Given the description of an element on the screen output the (x, y) to click on. 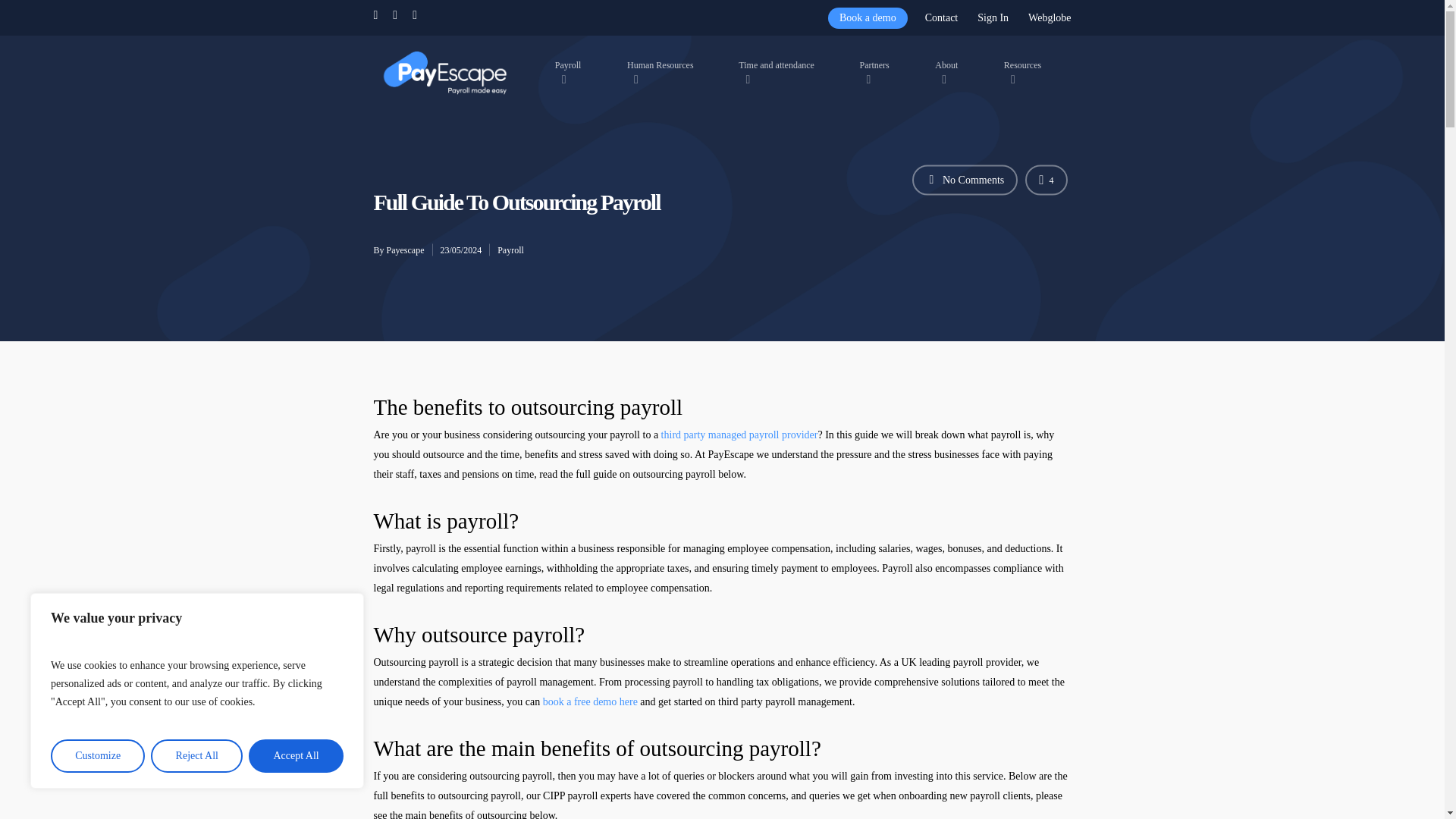
Accept All (295, 756)
Reject All (197, 756)
Webglobe (1048, 17)
Sign In (992, 17)
Contact (941, 17)
Payroll (575, 72)
Customize (97, 756)
Love this (1046, 179)
Book a demo (867, 17)
Posts by Payescape (406, 249)
